Given the description of an element on the screen output the (x, y) to click on. 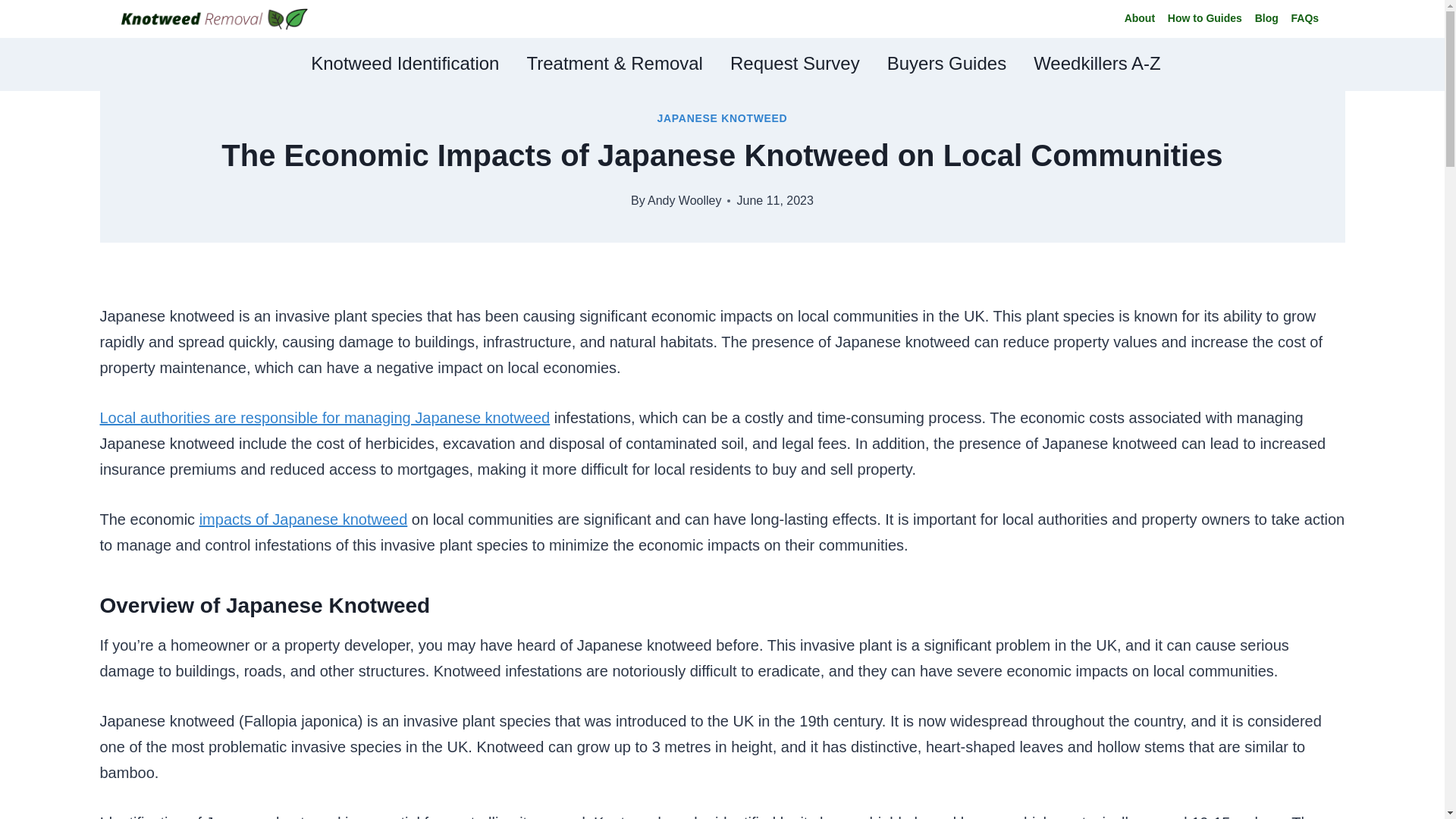
JAPANESE KNOTWEED (722, 118)
Buyers Guides (946, 63)
About (1139, 19)
Weedkillers A-Z (1097, 63)
How to Guides (1203, 19)
impacts of Japanese knotweed (303, 519)
Blog (1265, 19)
Knotweed Identification (404, 63)
Request Survey (794, 63)
Andy Woolley (684, 200)
FAQs (1304, 19)
